Given the description of an element on the screen output the (x, y) to click on. 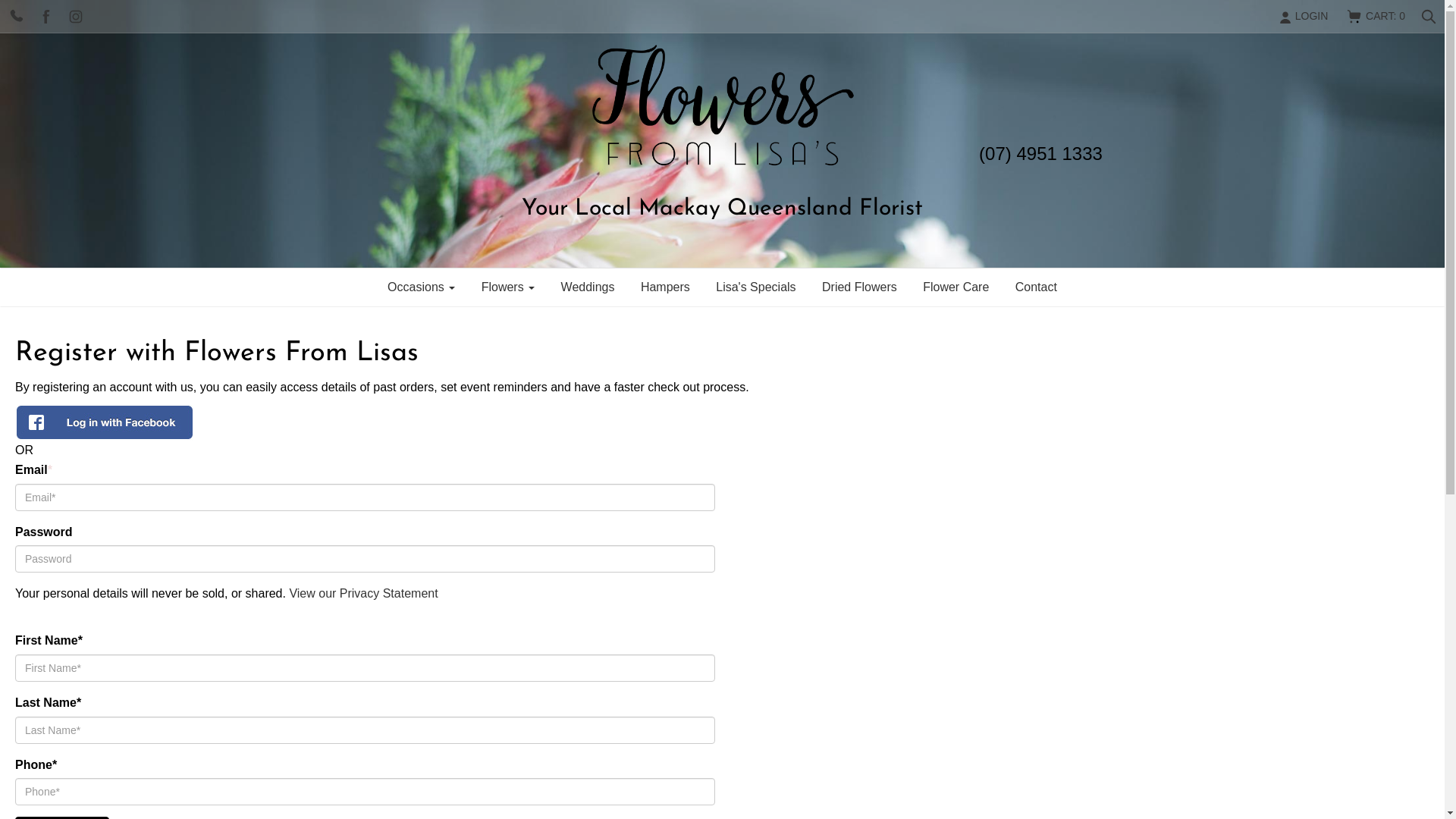
LOGIN Element type: text (1302, 15)
Hampers Element type: text (665, 287)
Dried Flowers Element type: text (859, 287)
Weddings Element type: text (587, 287)
(07) 4951 1333 Element type: text (1040, 153)
Contact Element type: text (1036, 287)
Flowers Element type: text (508, 287)
Occasions Element type: text (421, 287)
View our Privacy Statement Element type: text (362, 592)
Flowers From Lisa's Element type: hover (721, 106)
CART: 0 Element type: text (1375, 16)
Lisa's Specials Element type: text (755, 287)
Flower Care Element type: text (955, 287)
